Given the description of an element on the screen output the (x, y) to click on. 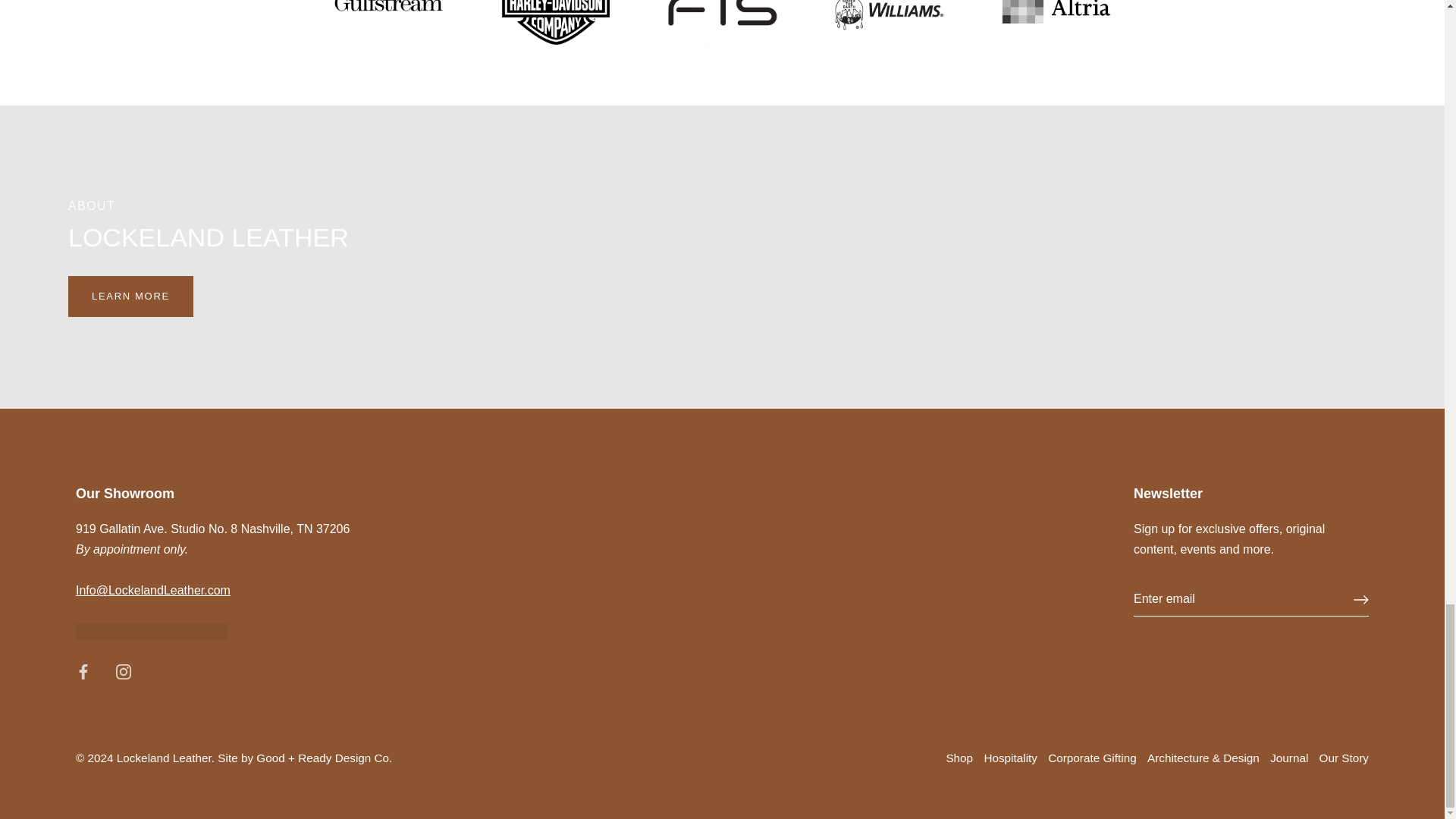
RIGHT ARROW LONG (1361, 599)
Instagram (123, 671)
Hospitality (1010, 757)
Lockeland Leather (163, 757)
Our Story (1343, 757)
Shop (958, 757)
Instagram (123, 670)
Journal (1288, 757)
Corporate Gifting (1091, 757)
RIGHT ARROW LONG (1361, 599)
